Given the description of an element on the screen output the (x, y) to click on. 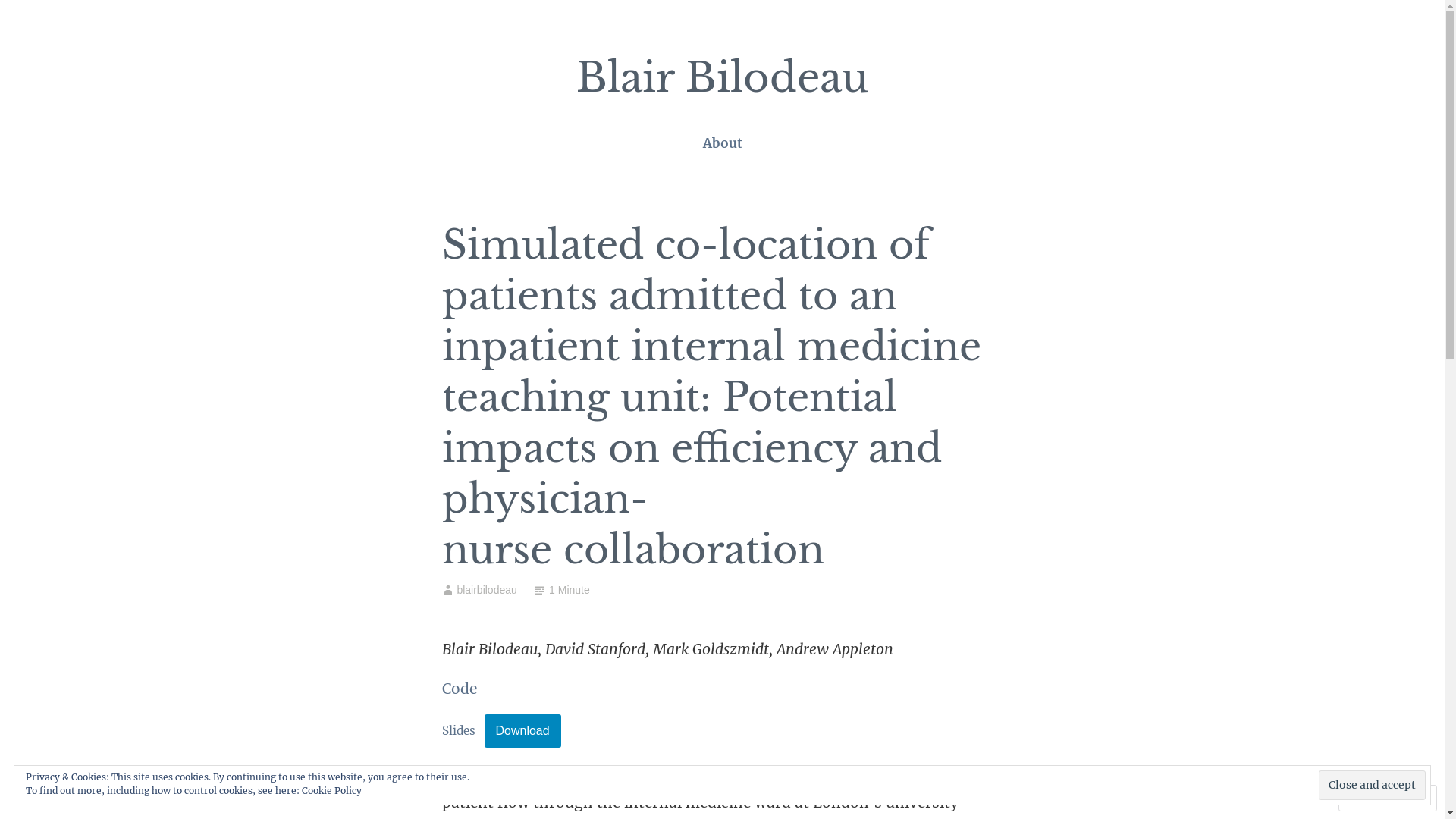
About Element type: text (721, 143)
Cookie Policy Element type: text (331, 790)
Follow Element type: text (1372, 797)
Download Element type: text (521, 730)
Close and accept Element type: text (1371, 785)
blairbilodeau Element type: text (486, 589)
Blair Bilodeau Element type: text (722, 77)
Slides Element type: text (457, 730)
Code Element type: text (458, 688)
